Given the description of an element on the screen output the (x, y) to click on. 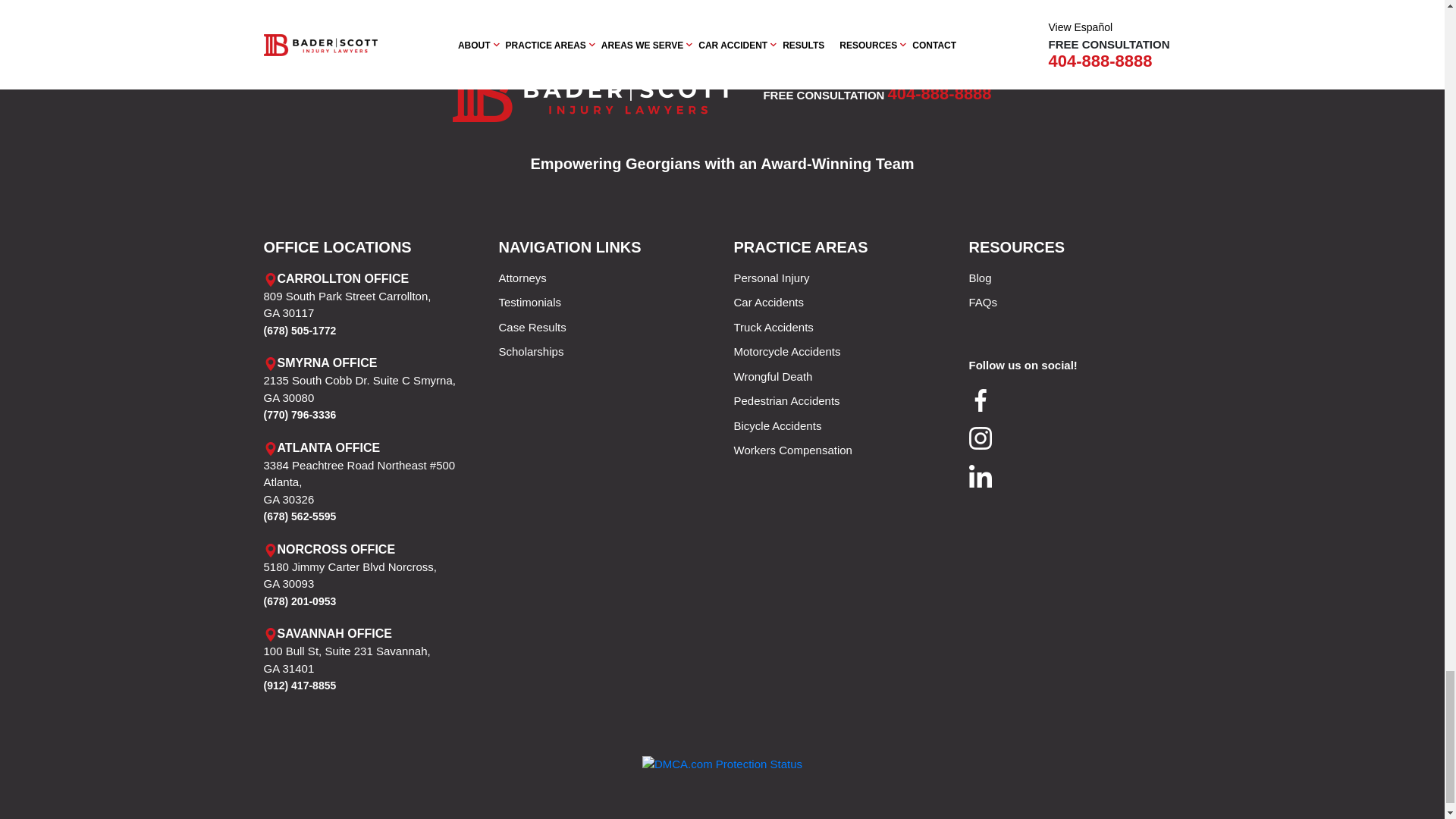
DMCA.com Protection Status (722, 762)
